Given the description of an element on the screen output the (x, y) to click on. 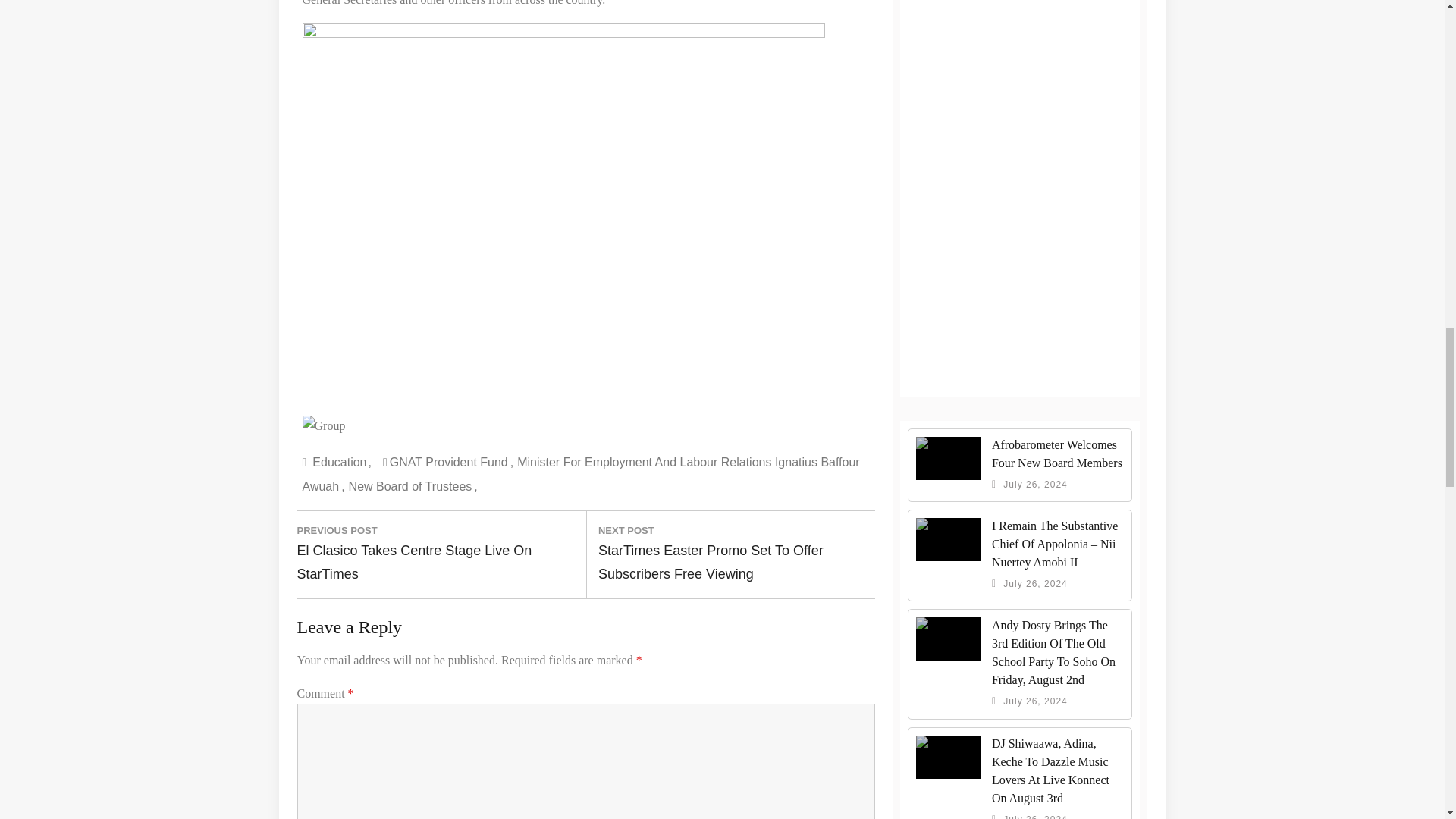
Group (323, 425)
